Given the description of an element on the screen output the (x, y) to click on. 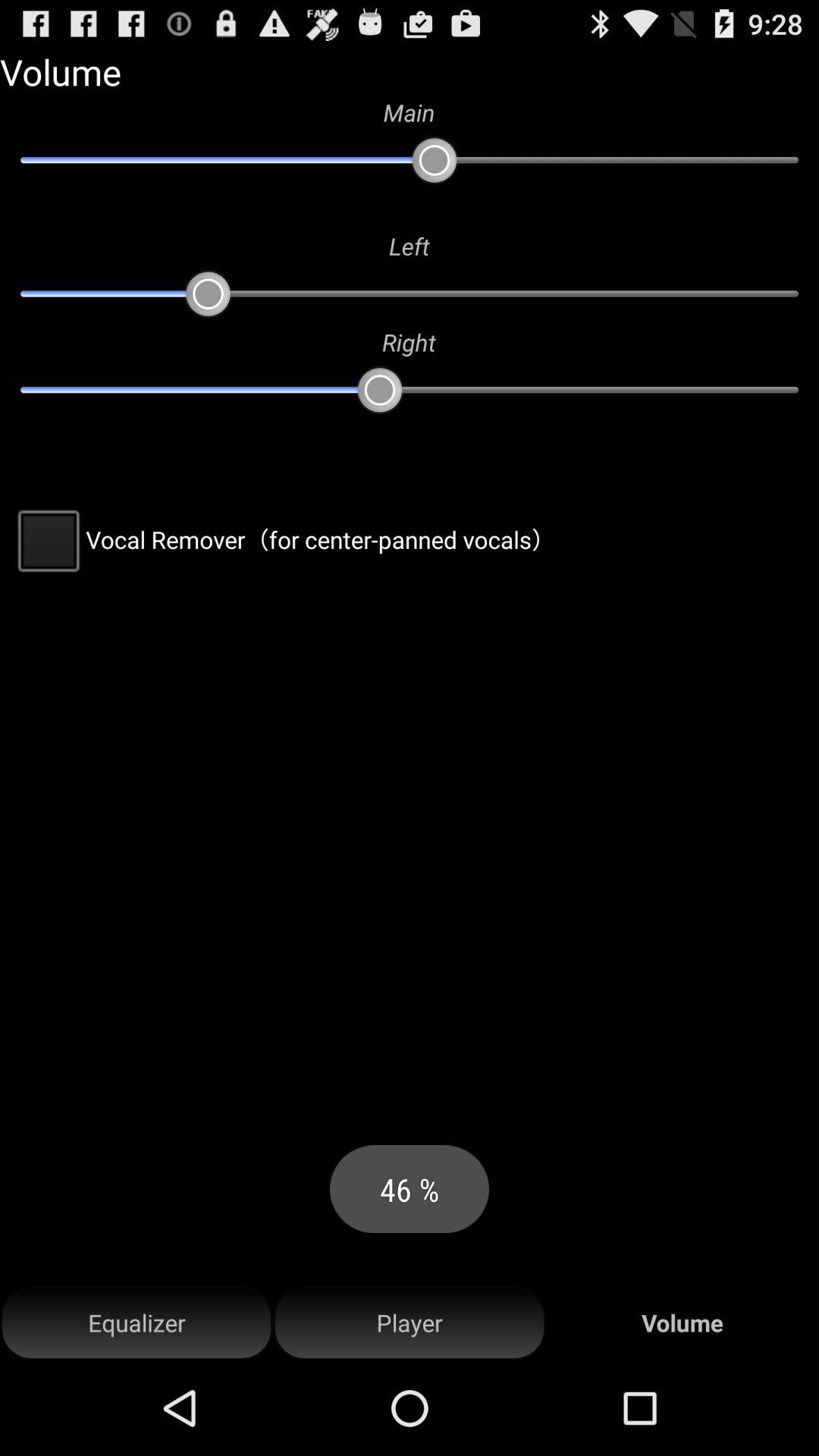
press the icon below vocal remover for icon (409, 1323)
